Given the description of an element on the screen output the (x, y) to click on. 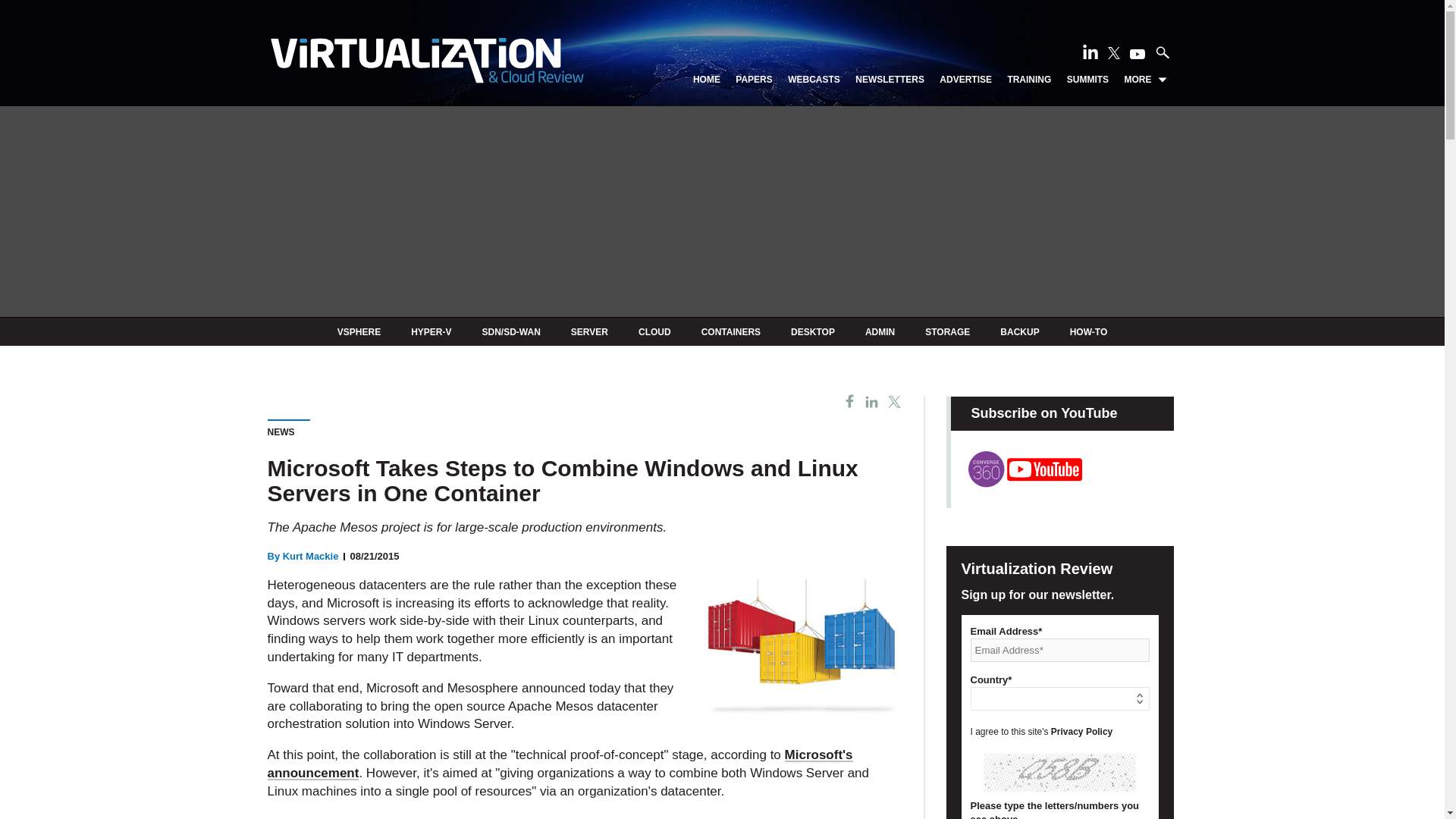
TRAINING (1029, 79)
HOME (706, 79)
SERVER (589, 331)
SUMMITS (1087, 79)
MORE (1145, 79)
VSPHERE (358, 331)
HYPER-V (430, 331)
CLOUD (655, 331)
3rd party ad content (583, 816)
ADVERTISE (965, 79)
